Given the description of an element on the screen output the (x, y) to click on. 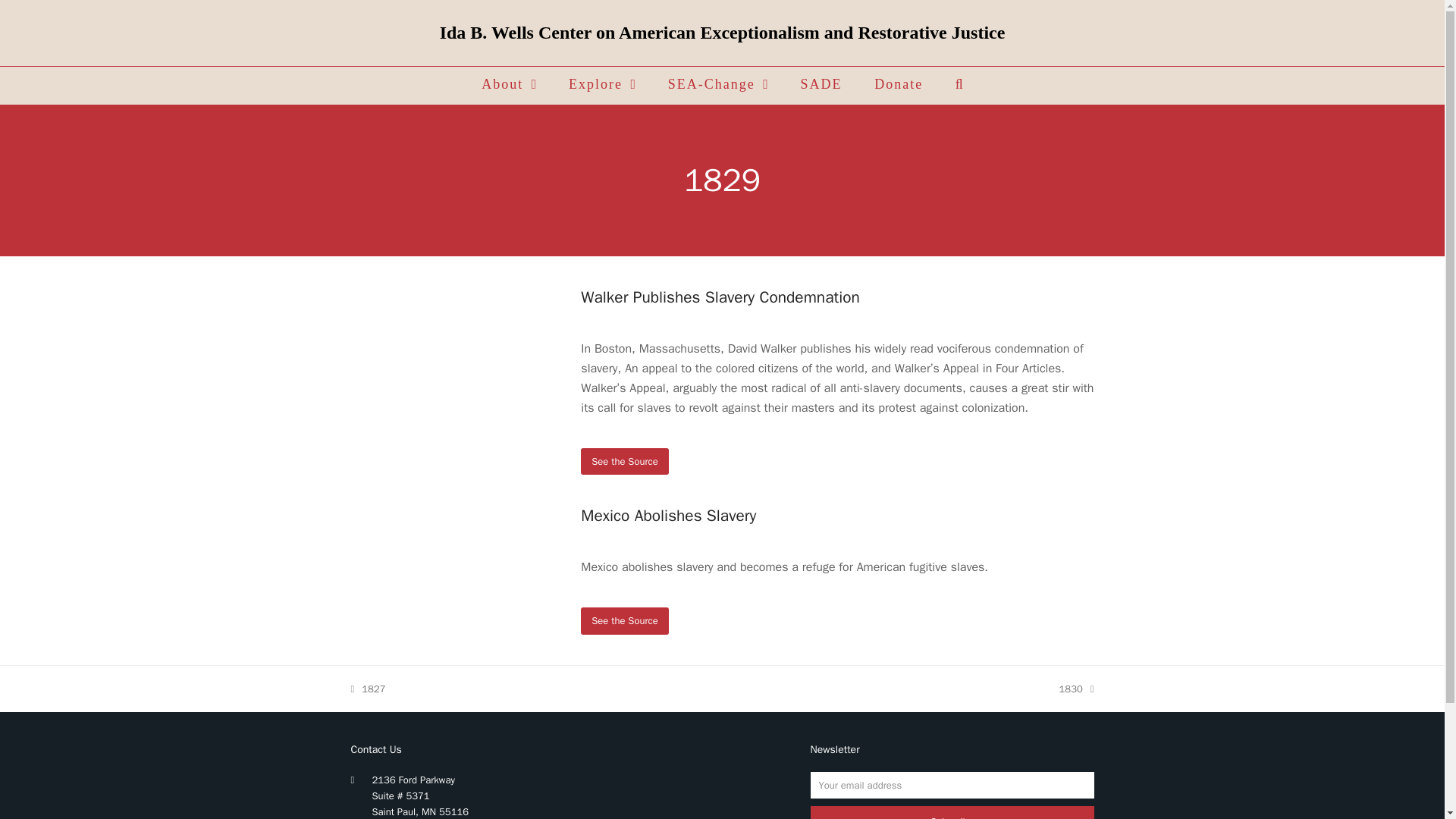
Explore (1076, 688)
Donate (602, 85)
See the Source (898, 85)
SADE (624, 461)
About (821, 85)
See the Source (509, 85)
Subscribe (624, 620)
